Given the description of an element on the screen output the (x, y) to click on. 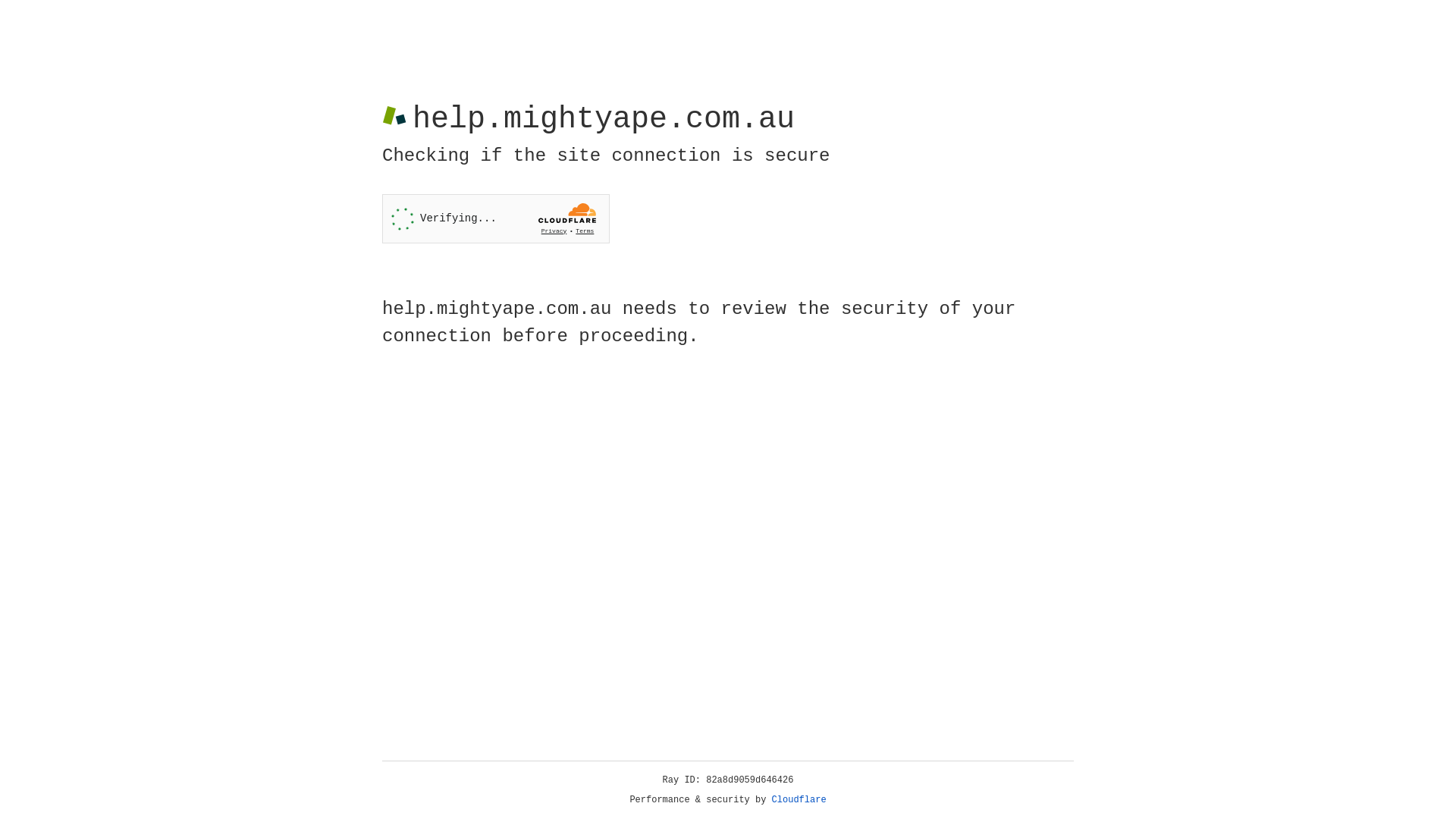
Cloudflare Element type: text (798, 799)
Widget containing a Cloudflare security challenge Element type: hover (495, 218)
